Given the description of an element on the screen output the (x, y) to click on. 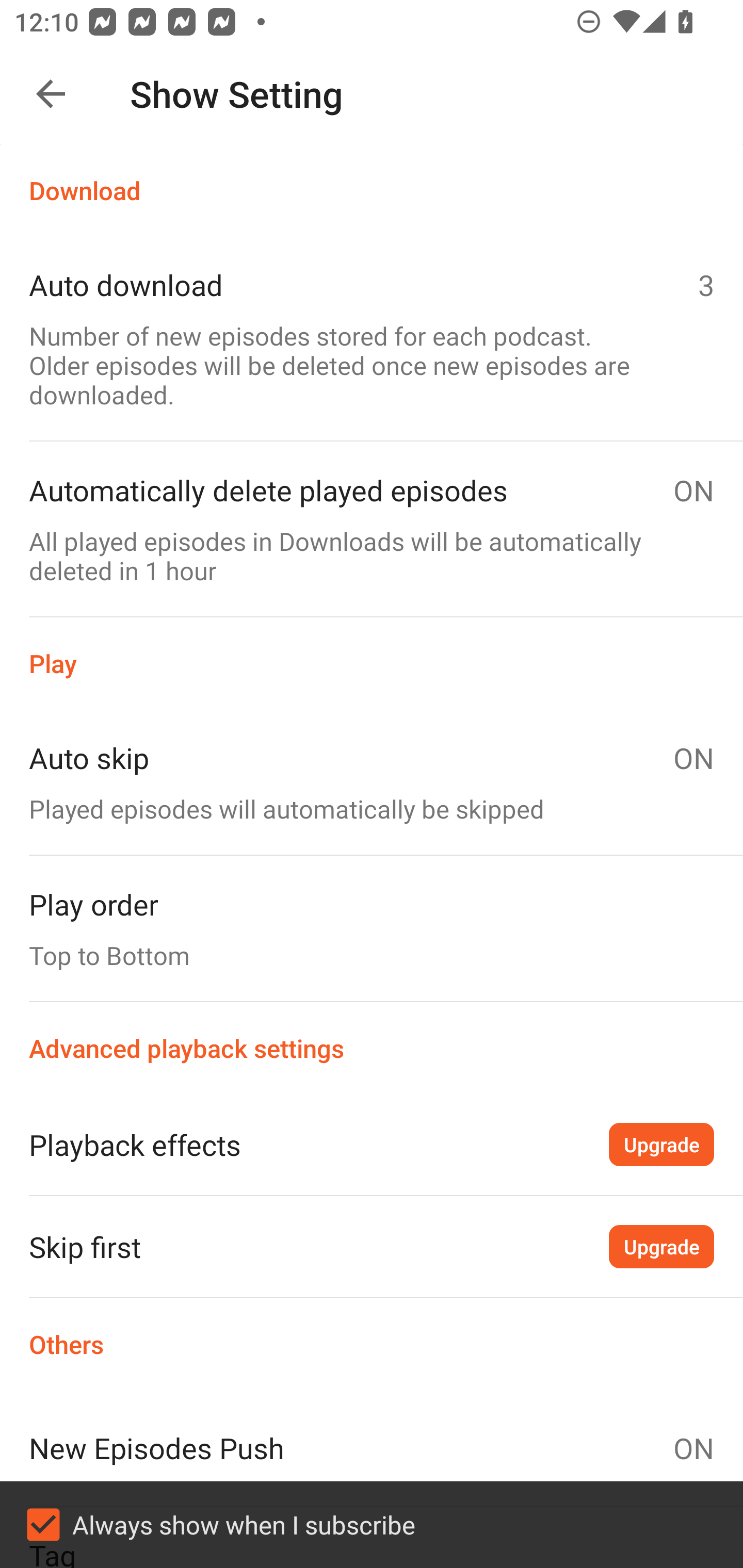
Navigate up (50, 93)
Play order Top to Bottom (371, 928)
Playback effects Upgrade (371, 1144)
Skip first Upgrade (371, 1246)
New Episodes Push ON (371, 1447)
Always show when I subscribe (371, 1524)
